Given the description of an element on the screen output the (x, y) to click on. 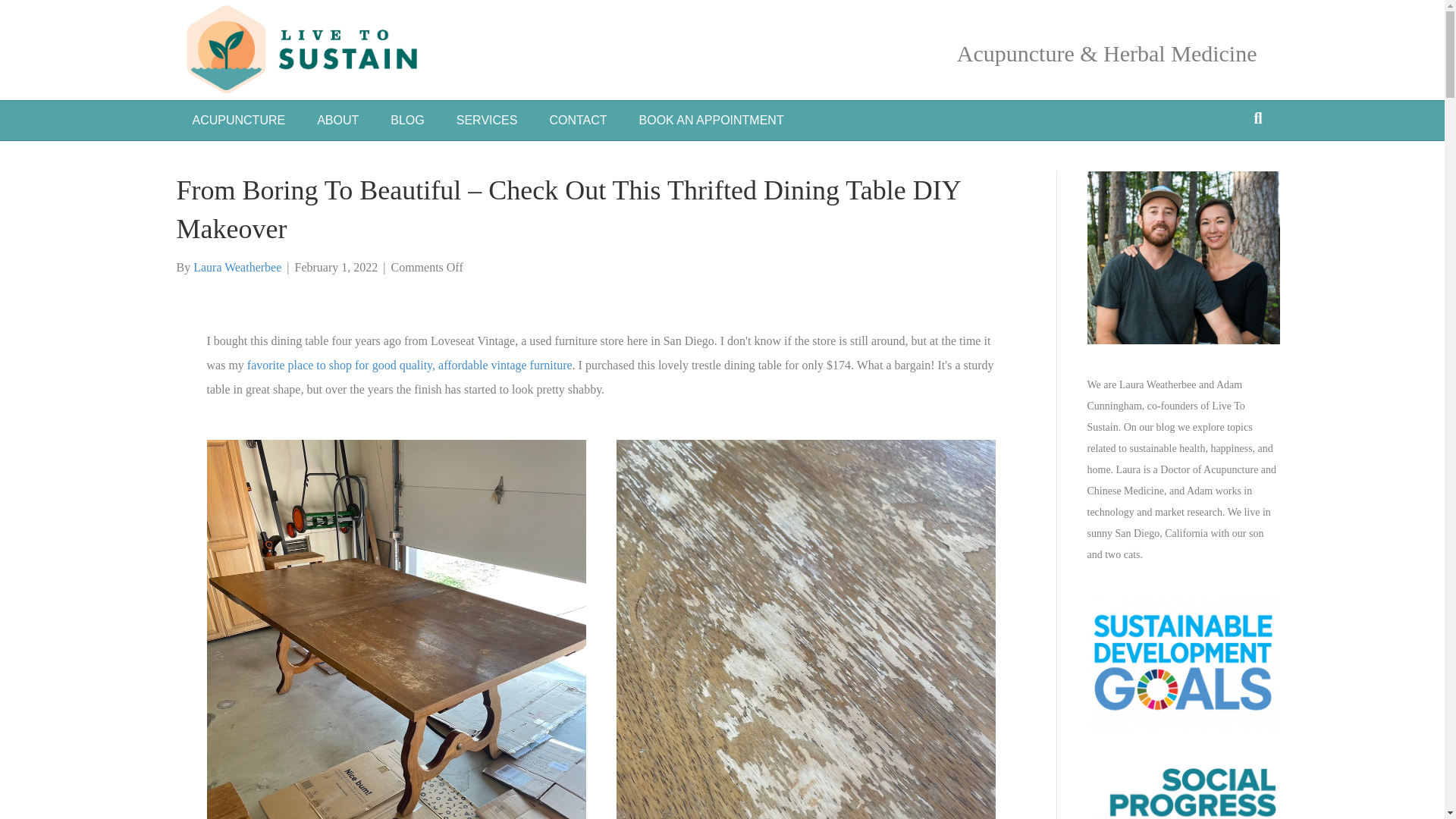
CONTACT (577, 120)
SERVICES (487, 120)
ABOUT (337, 120)
Laura Weatherbee (237, 267)
BOOK AN APPOINTMENT (711, 120)
BLOG (406, 120)
ACUPUNCTURE (238, 120)
